Given the description of an element on the screen output the (x, y) to click on. 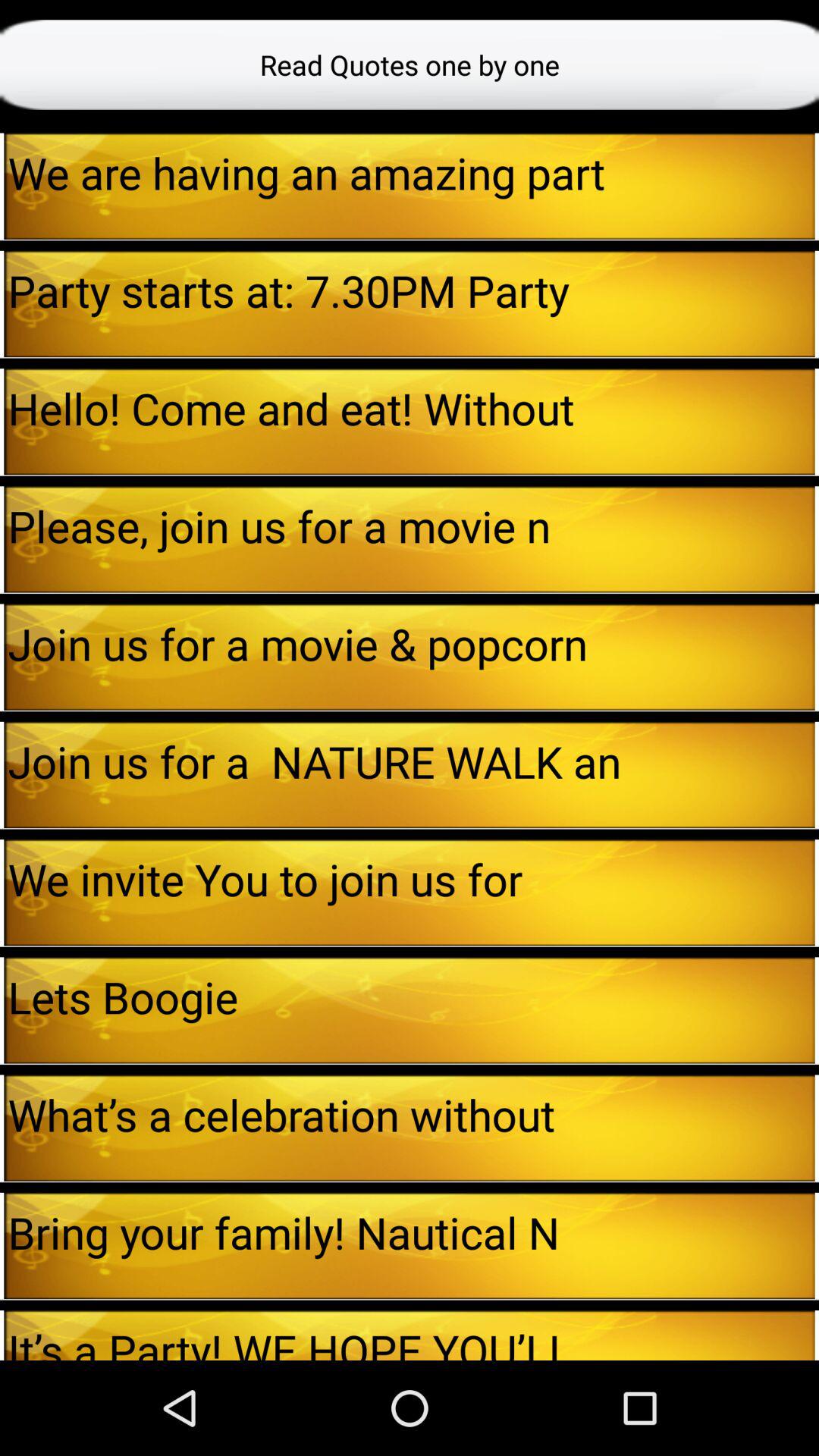
flip until please join us app (411, 525)
